Given the description of an element on the screen output the (x, y) to click on. 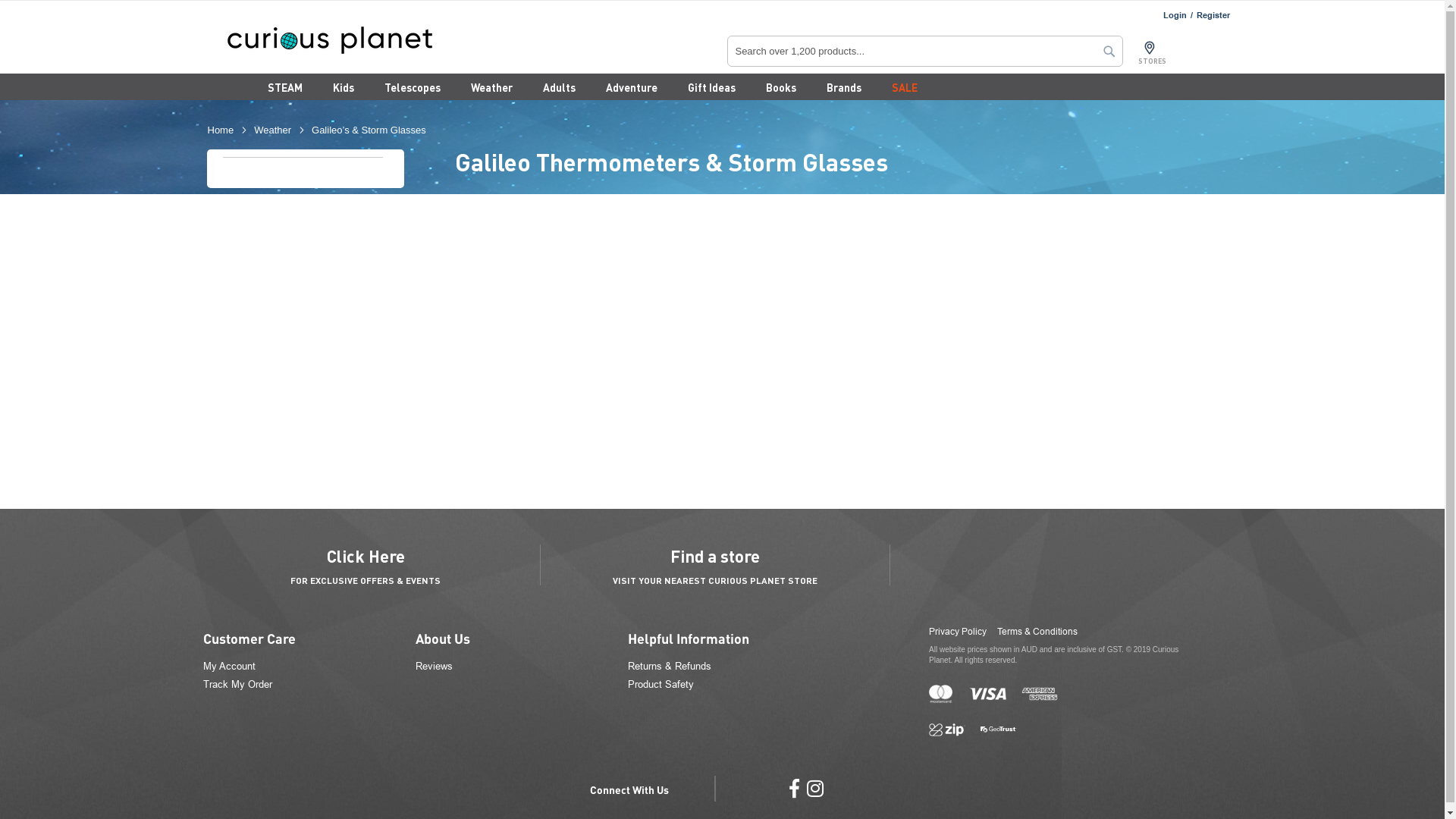
Brands Element type: text (843, 87)
Click Here Element type: text (365, 556)
Books Element type: text (780, 87)
Adults Element type: text (558, 87)
Reviews Element type: text (433, 665)
Privacy Policy Element type: text (957, 631)
Gift Ideas Element type: text (710, 87)
Find a store Element type: text (714, 556)
Register Element type: text (1213, 14)
Home Element type: text (220, 129)
Curious Planet Shop Element type: hover (367, 39)
VISIT YOUR NEAREST CURIOUS PLANET STORE Element type: text (714, 579)
Search Element type: text (1108, 49)
My Account Element type: text (229, 665)
Returns & Refunds Element type: text (669, 665)
Product Safety Element type: text (660, 684)
STEAM Element type: text (283, 87)
Weather Element type: text (272, 129)
Track My Order Element type: text (237, 684)
Terms & Conditions Element type: text (1037, 631)
STORES Element type: text (1163, 60)
Kids Element type: text (342, 87)
FOR EXCLUSIVE OFFERS & EVENTS Element type: text (365, 579)
Login Element type: text (1174, 14)
Telescopes Element type: text (411, 87)
SALE Element type: text (904, 87)
Adventure Element type: text (630, 87)
Weather Element type: text (491, 87)
